Given the description of an element on the screen output the (x, y) to click on. 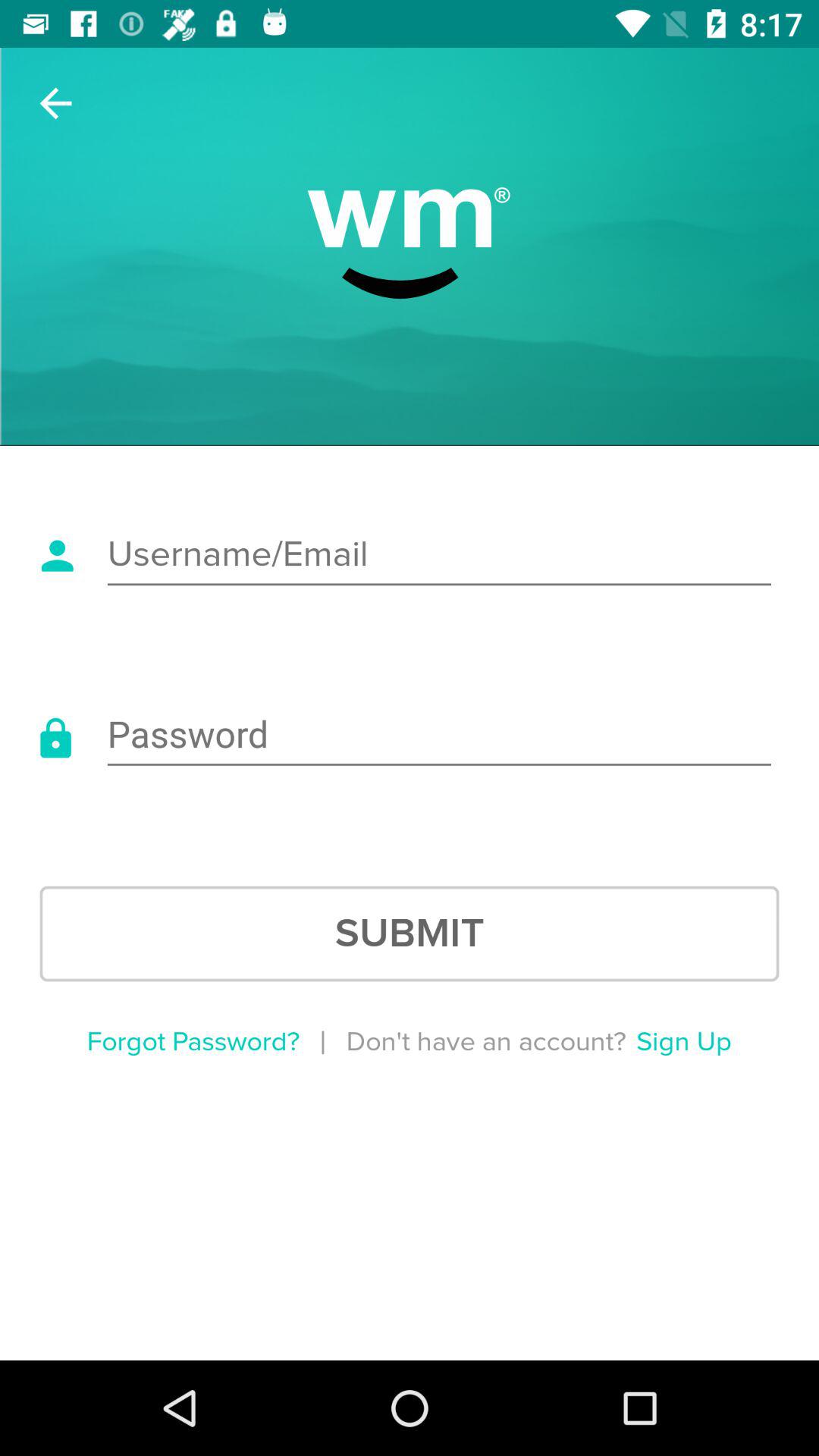
press submit icon (409, 933)
